Given the description of an element on the screen output the (x, y) to click on. 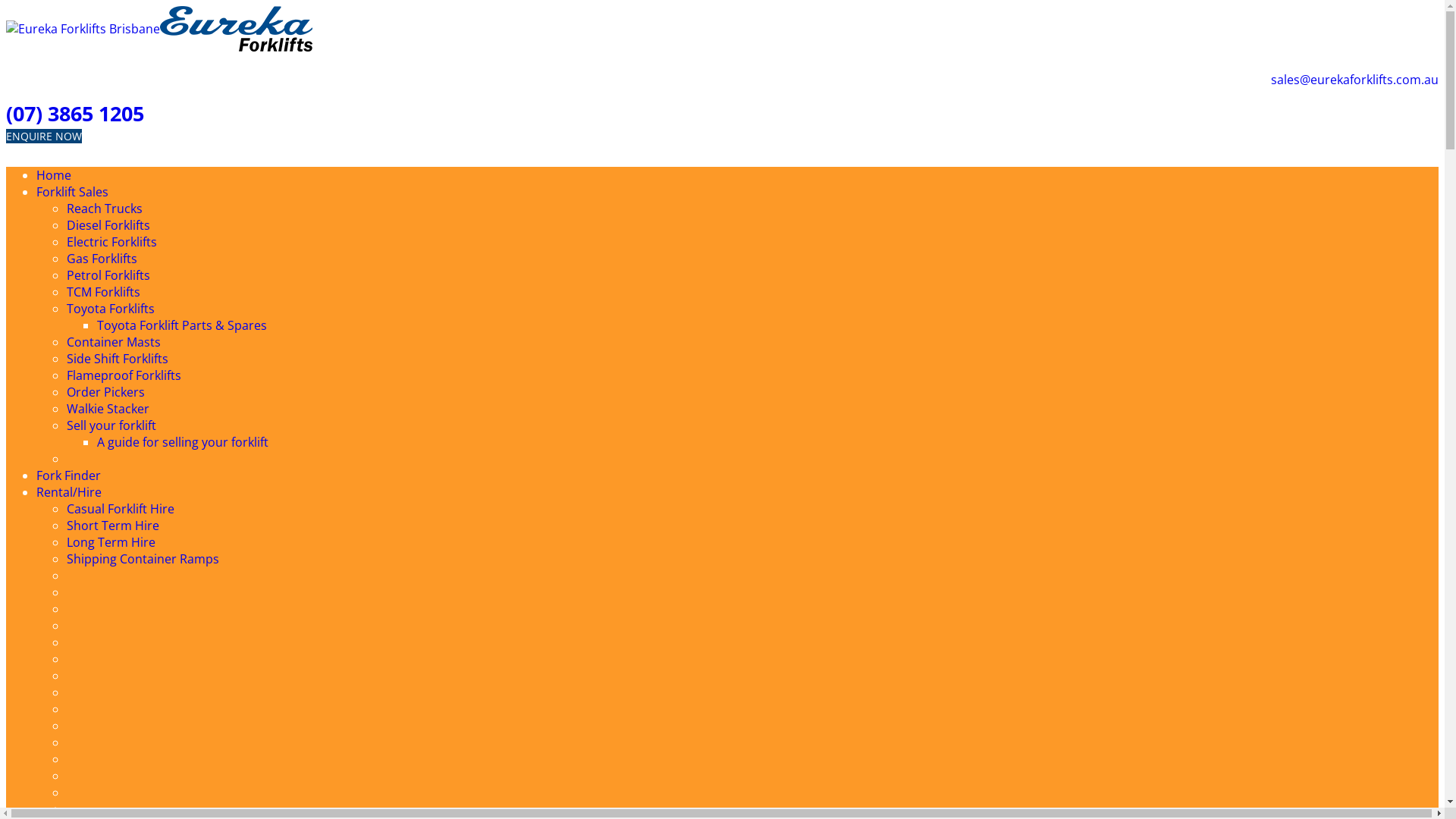
Flameproof Forklifts Element type: text (123, 375)
A guide for selling your forklift Element type: text (182, 441)
Short Term Hire Element type: text (112, 525)
Order Pickers Element type: text (105, 391)
ENQUIRE NOW Element type: text (43, 135)
Shipping Container Ramps Element type: text (142, 558)
Walkie Stacker Element type: text (107, 408)
Toyota Forklift Parts & Spares Element type: text (181, 324)
sales@eurekaforklifts.com.au Element type: text (1354, 79)
TCM Forklifts Element type: text (103, 291)
Fork Finder Element type: text (68, 475)
Gas Forklifts Element type: text (101, 258)
Sell your forklift Element type: text (111, 425)
Rental/Hire Element type: text (68, 491)
Toyota Forklifts Element type: text (110, 308)
(07) 3865 1205 Element type: text (75, 113)
Side Shift Forklifts Element type: text (117, 358)
Petrol Forklifts Element type: text (108, 274)
Long Term Hire Element type: text (110, 541)
Forklift Sales Element type: text (72, 191)
Electric Forklifts Element type: text (111, 241)
Reach Trucks Element type: text (104, 208)
Home Element type: text (53, 174)
Casual Forklift Hire Element type: text (120, 508)
Diesel Forklifts Element type: text (108, 224)
Container Masts Element type: text (113, 341)
